Given the description of an element on the screen output the (x, y) to click on. 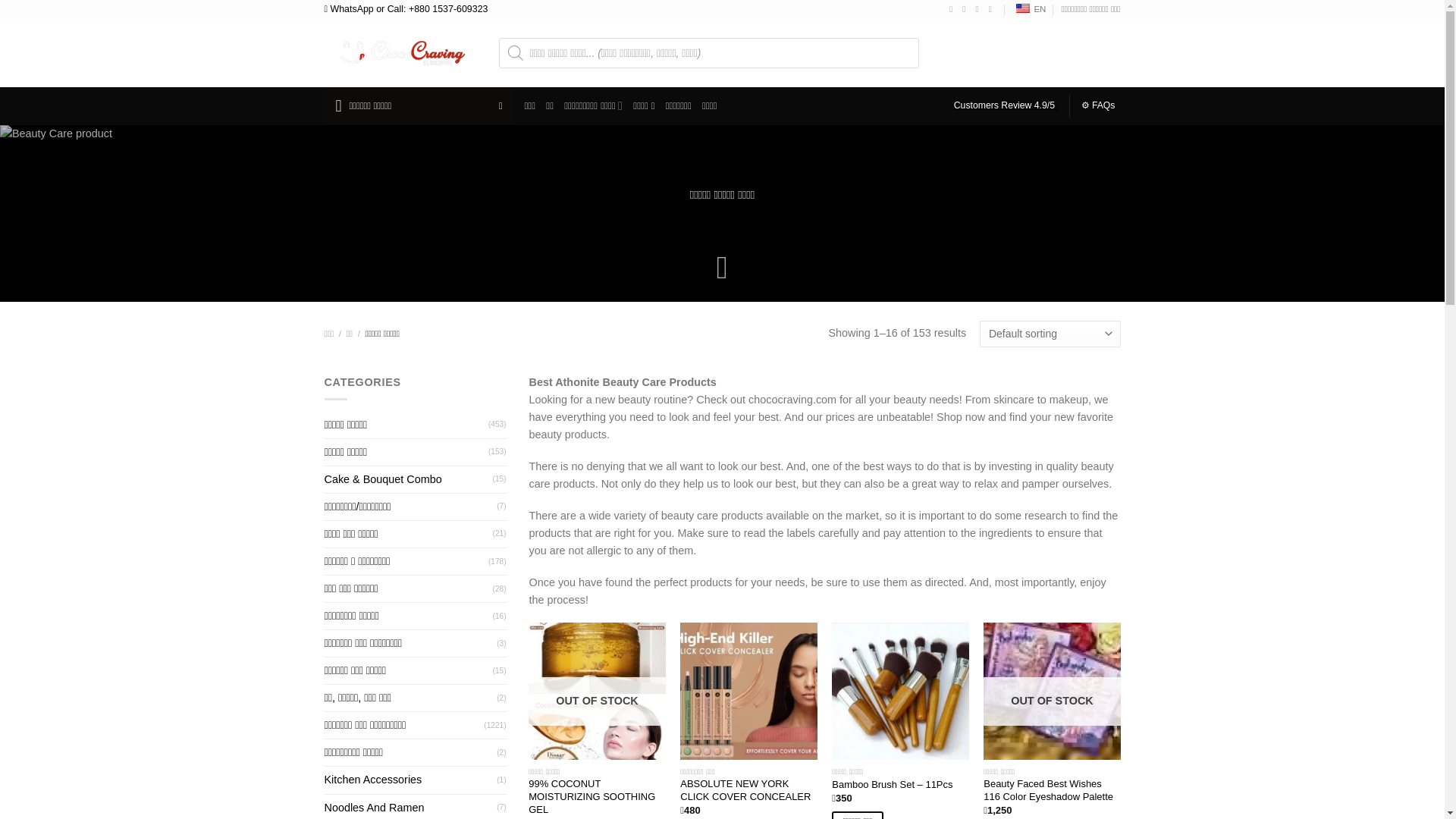
Send us an email (992, 8)
English (1022, 8)
Follow on Twitter (979, 8)
LOGIN (1024, 52)
ChocoCraving - Gift Shop Online Bangladesh (400, 52)
EN (1028, 9)
Follow on Instagram (966, 8)
Follow on Facebook (953, 8)
Login (1024, 52)
